Given the description of an element on the screen output the (x, y) to click on. 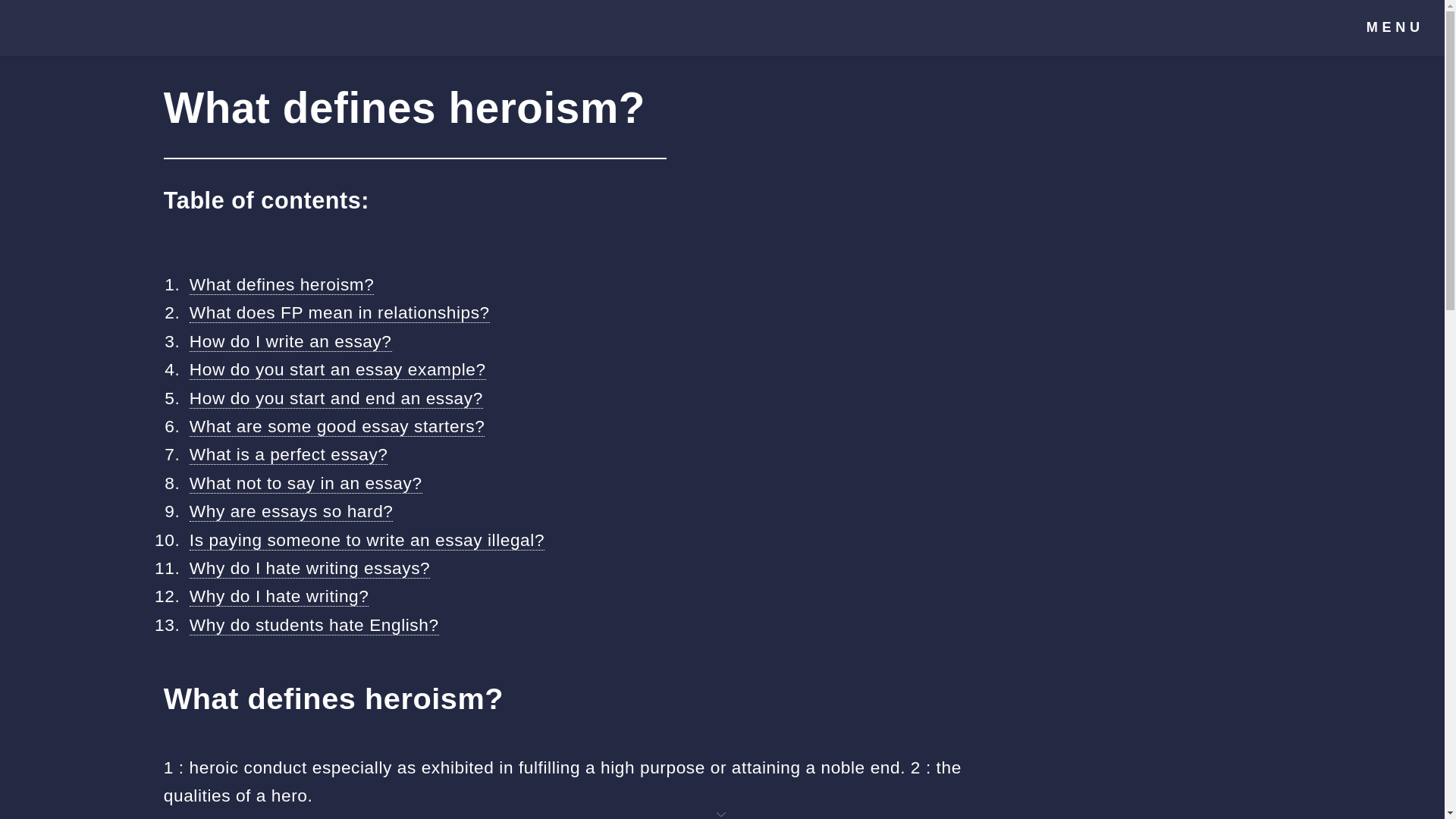
Is paying someone to write an essay illegal? (366, 539)
What not to say in an essay? (305, 483)
Why do I hate writing essays? (309, 567)
What are some good essay starters? (336, 426)
Why are essays so hard? (291, 511)
How do I write an essay? (290, 341)
Ad.Plus Advertising (722, 813)
How do you start an essay example? (337, 369)
What is a perfect essay? (288, 454)
What does FP mean in relationships? (339, 312)
